Given the description of an element on the screen output the (x, y) to click on. 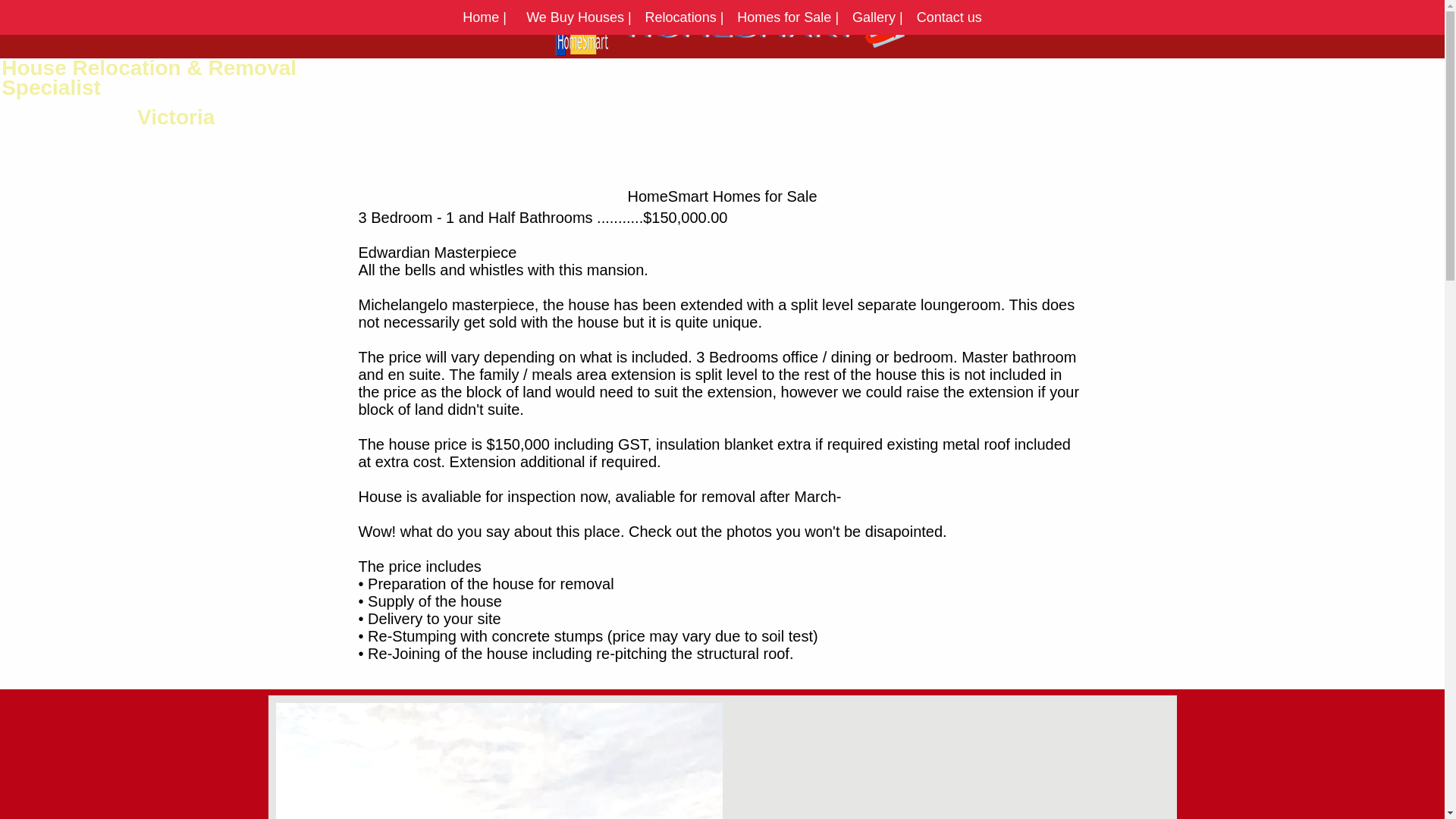
Relocations | Element type: text (684, 17)
Contact us Element type: text (949, 17)
We Buy Houses | Element type: text (578, 17)
Home | Element type: text (487, 17)
Homes for Sale | Element type: text (787, 17)
Gallery | Element type: text (877, 17)
